Given the description of an element on the screen output the (x, y) to click on. 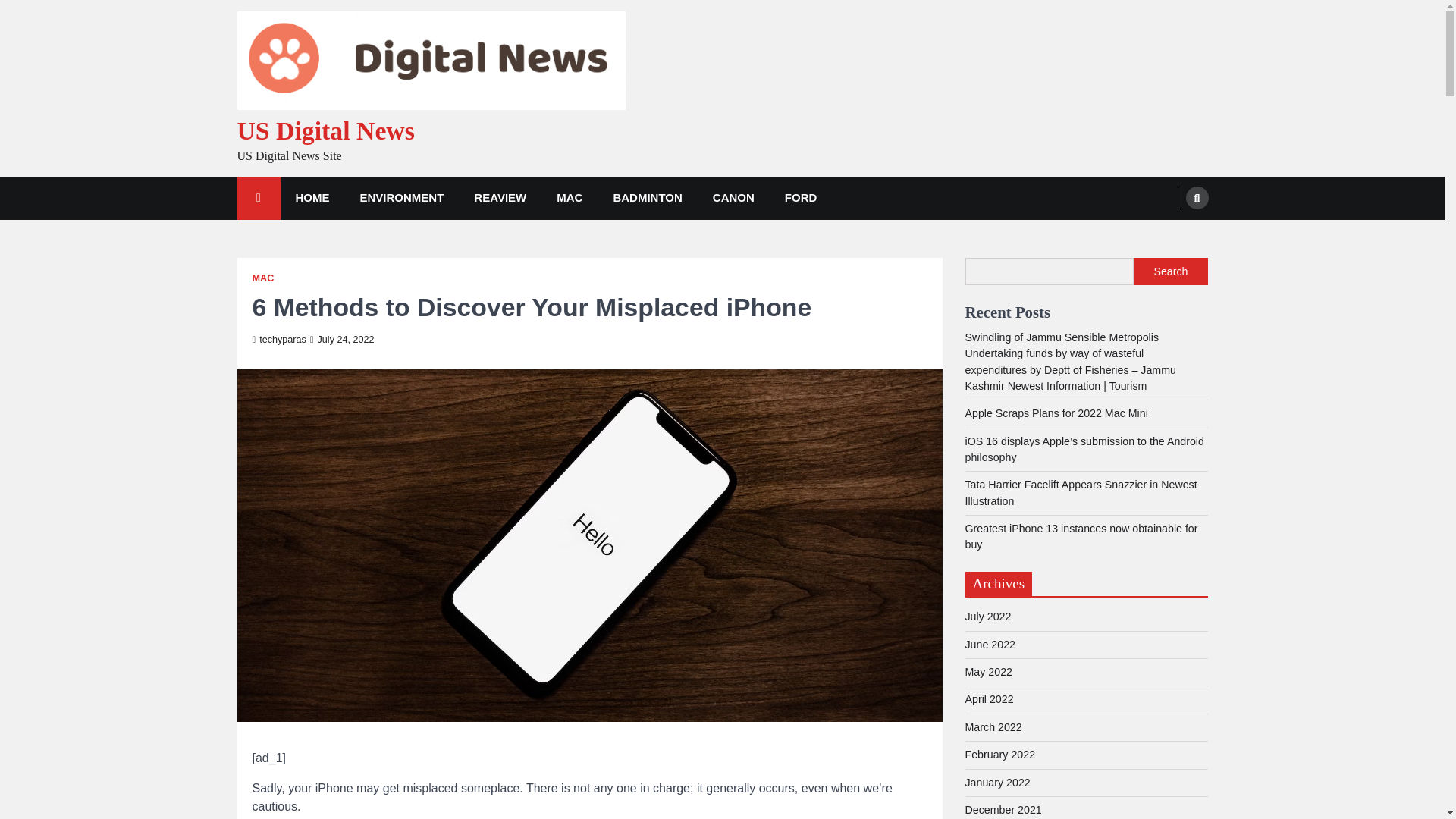
July 24, 2022 (342, 339)
ENVIRONMENT (400, 198)
May 2022 (987, 671)
Greatest iPhone 13 instances now obtainable for buy (1079, 536)
BADMINTON (646, 198)
Search (1168, 233)
HOME (313, 198)
Apple Scraps Plans for 2022 Mac Mini (1055, 413)
REAVIEW (499, 198)
March 2022 (992, 727)
